Given the description of an element on the screen output the (x, y) to click on. 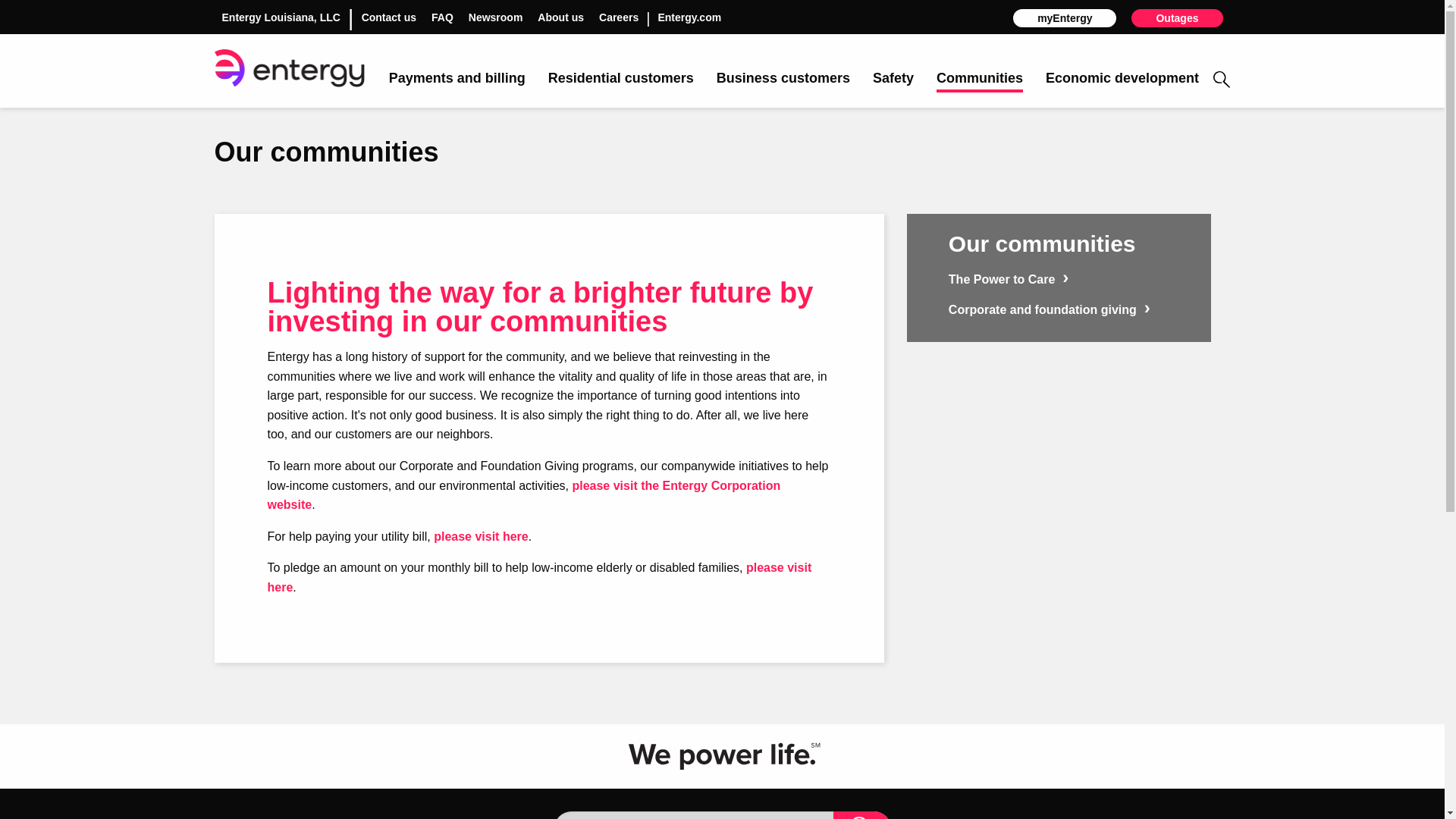
Entergy Louisiana, LLC (280, 17)
About us (560, 17)
FAQ (441, 17)
Entergy.com (689, 17)
Payments and billing (456, 79)
Contact us (388, 17)
Newsroom (495, 17)
myEntergy (1064, 18)
Careers (618, 17)
Outages (1177, 18)
